Given the description of an element on the screen output the (x, y) to click on. 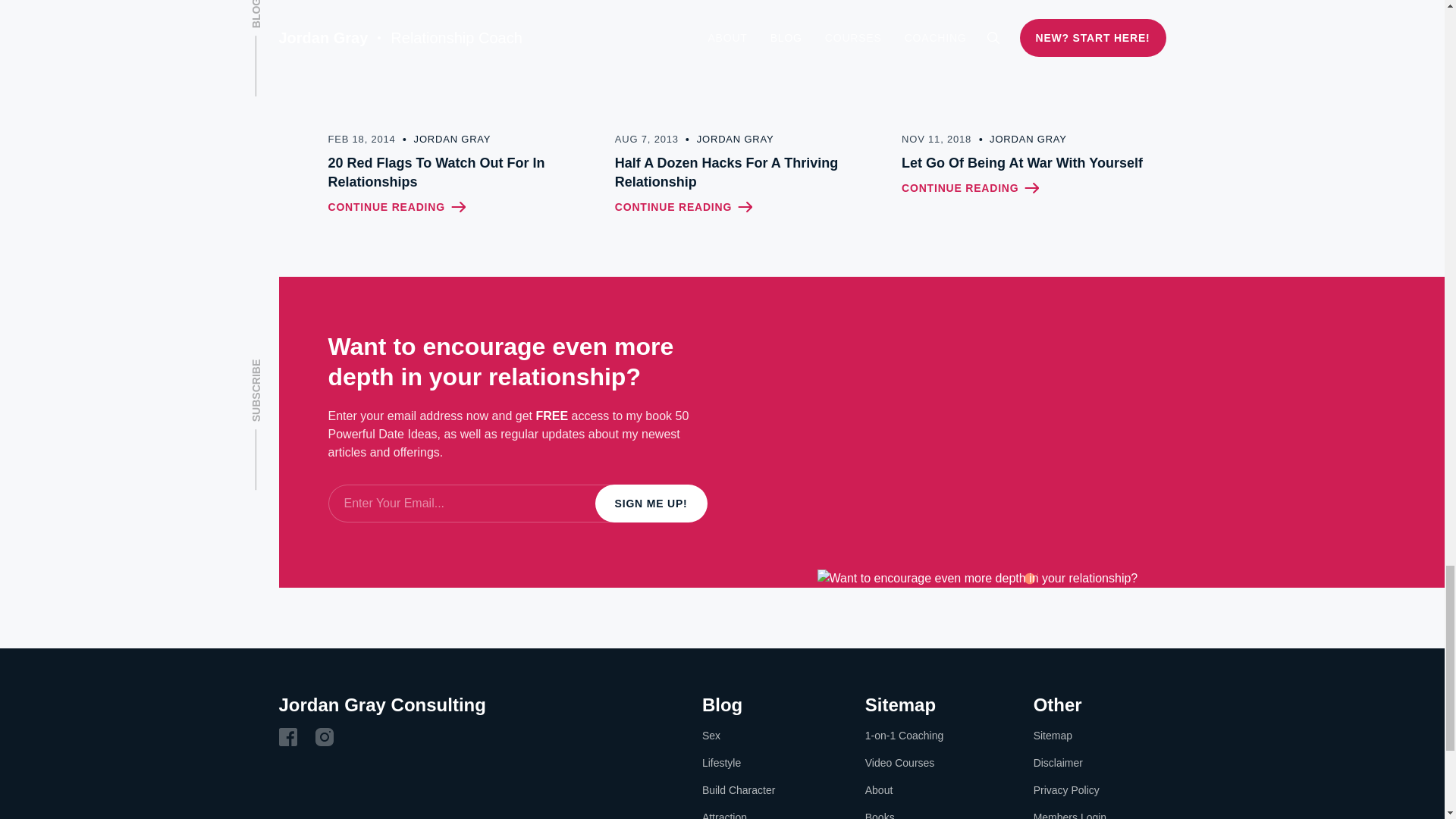
Facebook (288, 737)
Half A Dozen Hacks For A Thriving Relationship (746, 172)
JORDAN GRAY (444, 139)
Sign Me Up! (651, 503)
CONTINUE READING (970, 188)
CONTINUE READING (683, 207)
CONTINUE READING (395, 207)
JORDAN GRAY (1019, 139)
JORDAN GRAY (726, 139)
20 Red Flags To Watch Out For In Relationships (459, 172)
Let Go Of Being At War With Yourself (1033, 162)
Instagram (324, 737)
